Given the description of an element on the screen output the (x, y) to click on. 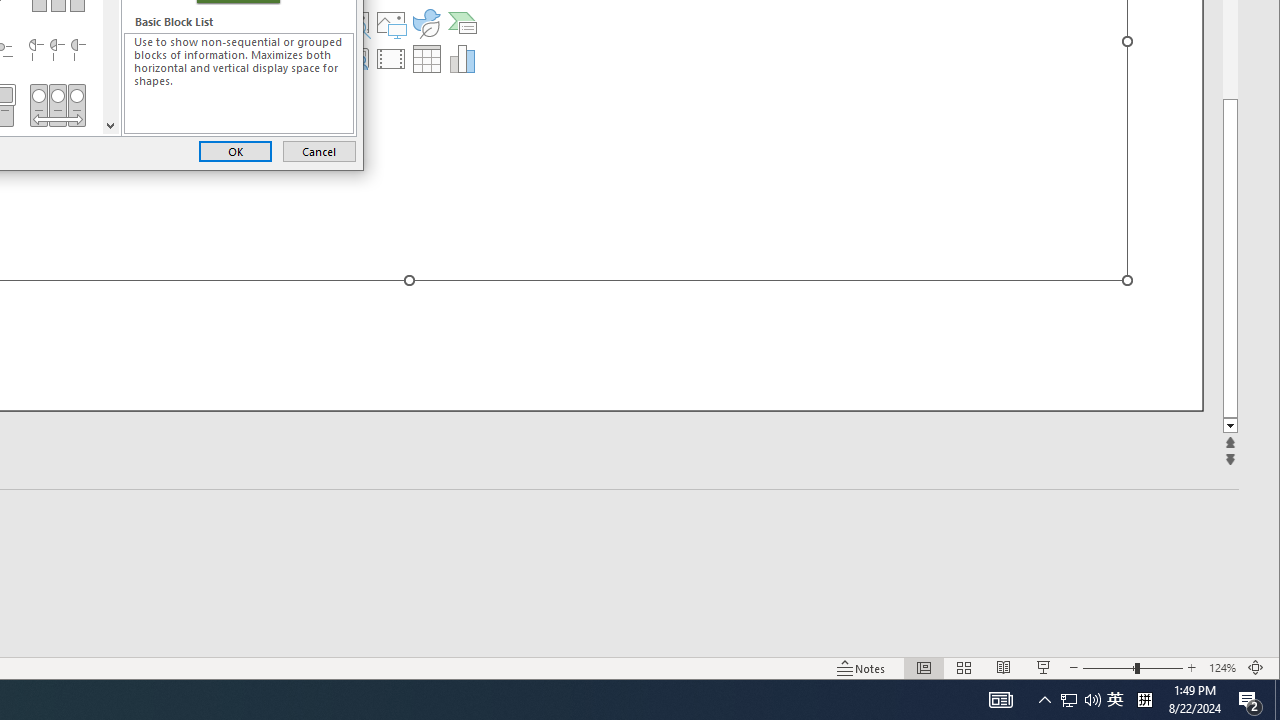
Pie Process (1069, 699)
Tray Input Indicator - Chinese (Simplified, China) (57, 49)
Continuous Picture List (1144, 699)
Insert an Icon (57, 105)
Cancel (426, 22)
Pictures (319, 150)
Insert Table (391, 22)
Class: NetUITextbox (426, 58)
Zoom 124% (239, 83)
Action Center, 2 new notifications (1222, 668)
